Given the description of an element on the screen output the (x, y) to click on. 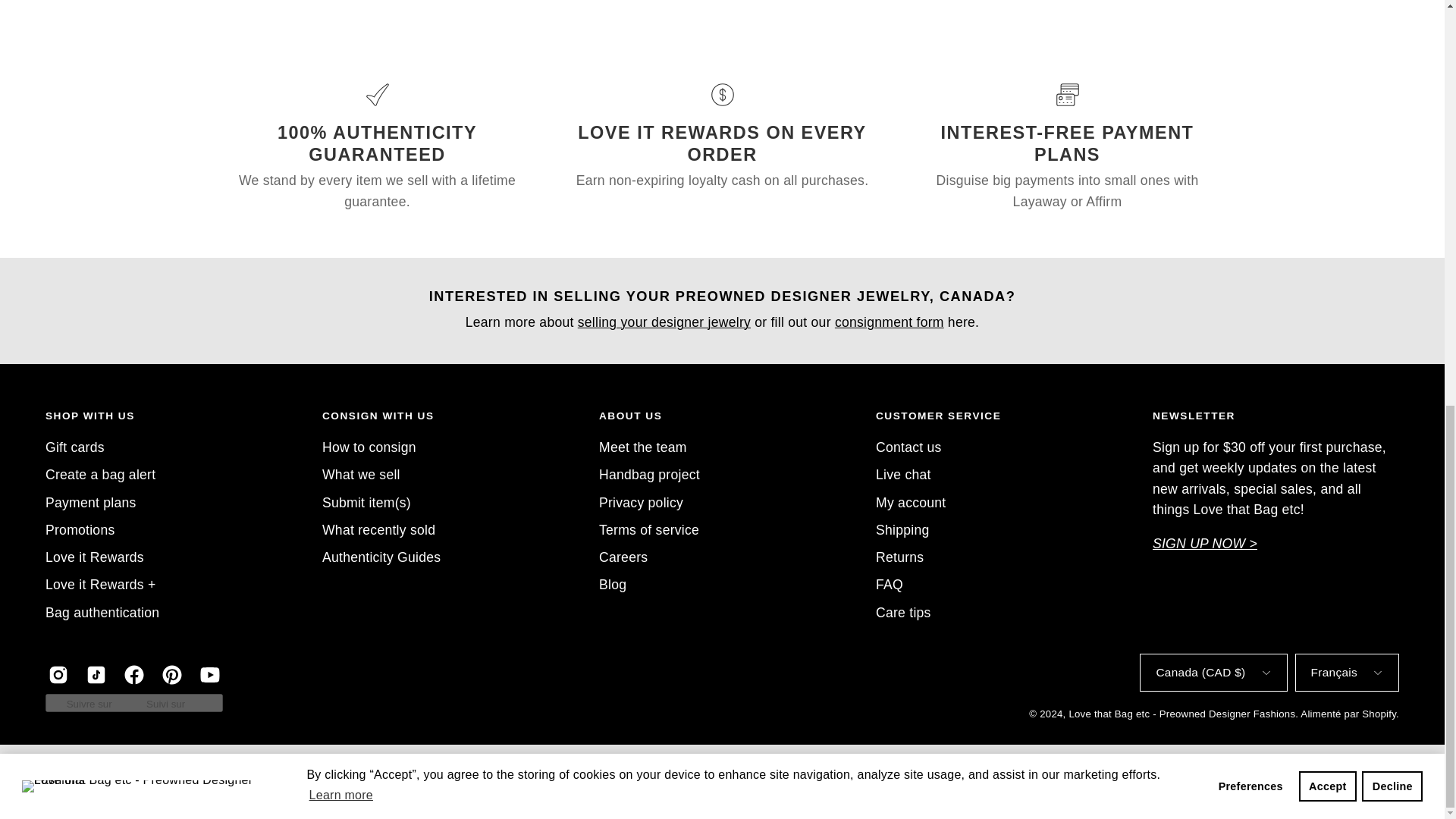
Learn more (340, 2)
